Given the description of an element on the screen output the (x, y) to click on. 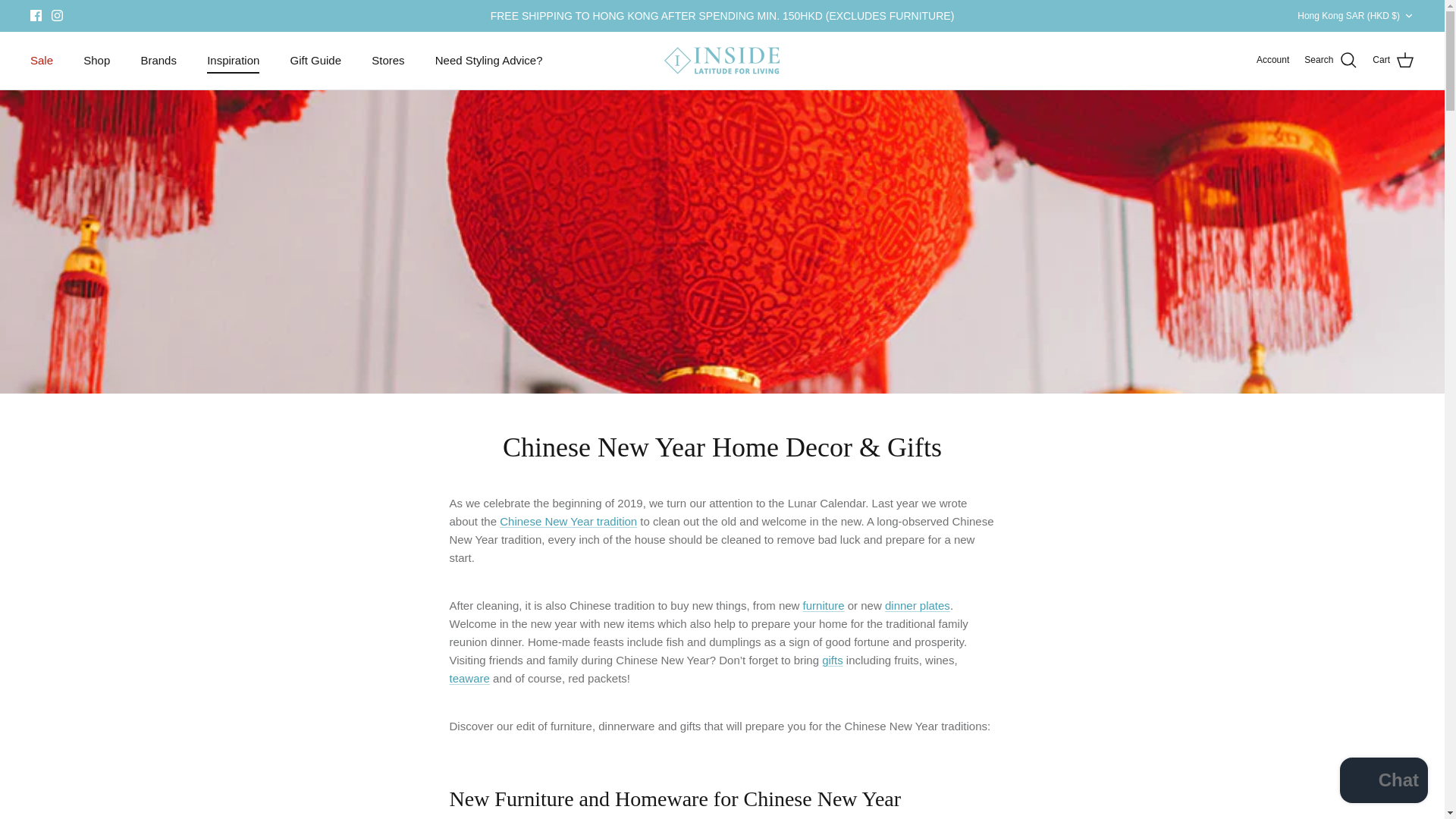
Facebook (36, 15)
Shopify online store chat (1383, 781)
Instagram (56, 15)
Down (1408, 15)
Facebook (36, 15)
Instagram (56, 15)
Inside Living Hong Kong (721, 60)
